Given the description of an element on the screen output the (x, y) to click on. 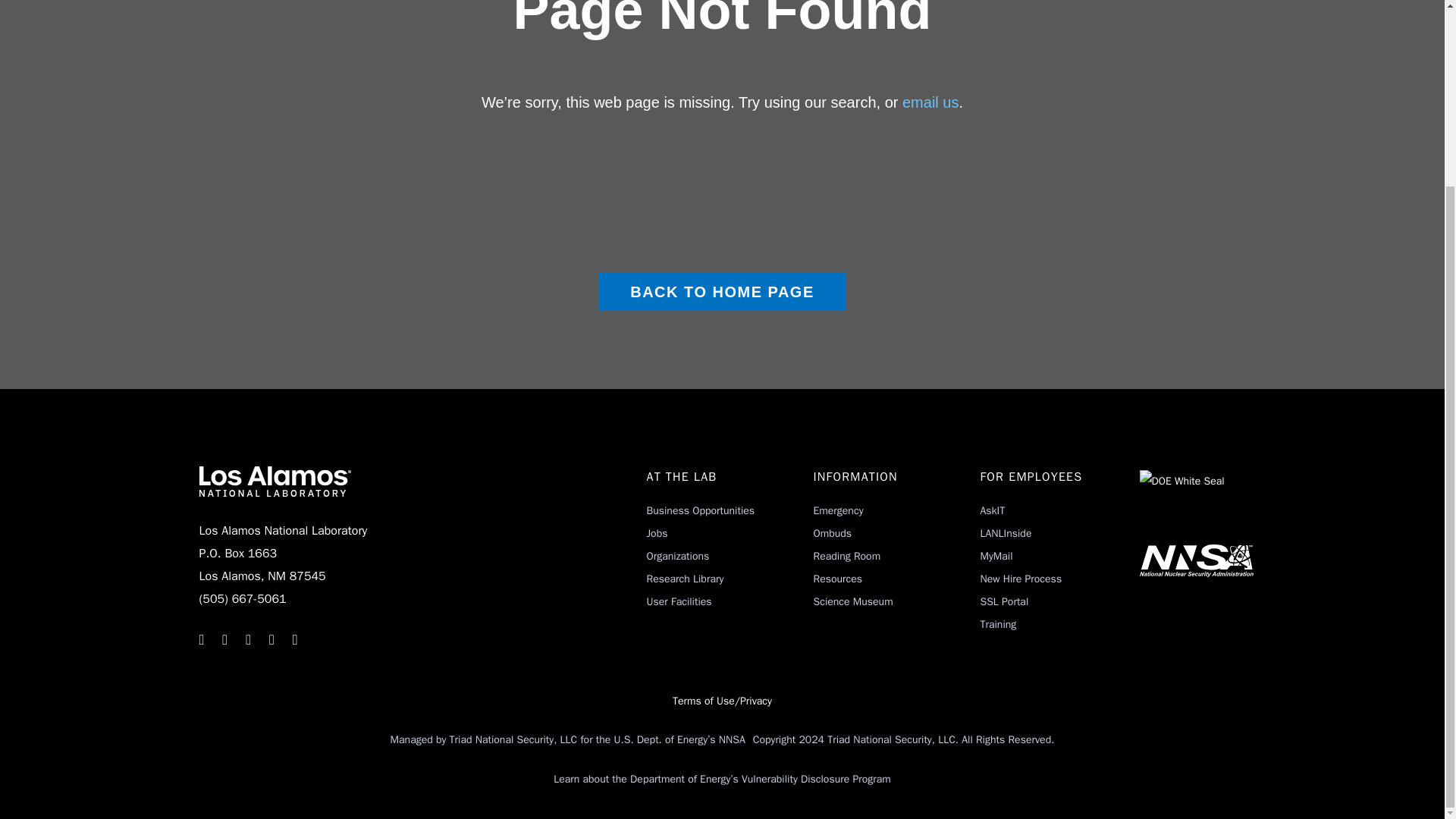
Resources (836, 578)
AskIT (991, 510)
Organizations (677, 555)
Emergency (837, 510)
User Facilities (678, 601)
Ombuds (831, 533)
Jobs (656, 533)
BACK TO HOME PAGE (721, 291)
email us (930, 102)
Business Opportunities (700, 510)
Science Museum (852, 601)
Reading Room (846, 555)
Research Library (684, 578)
